Given the description of an element on the screen output the (x, y) to click on. 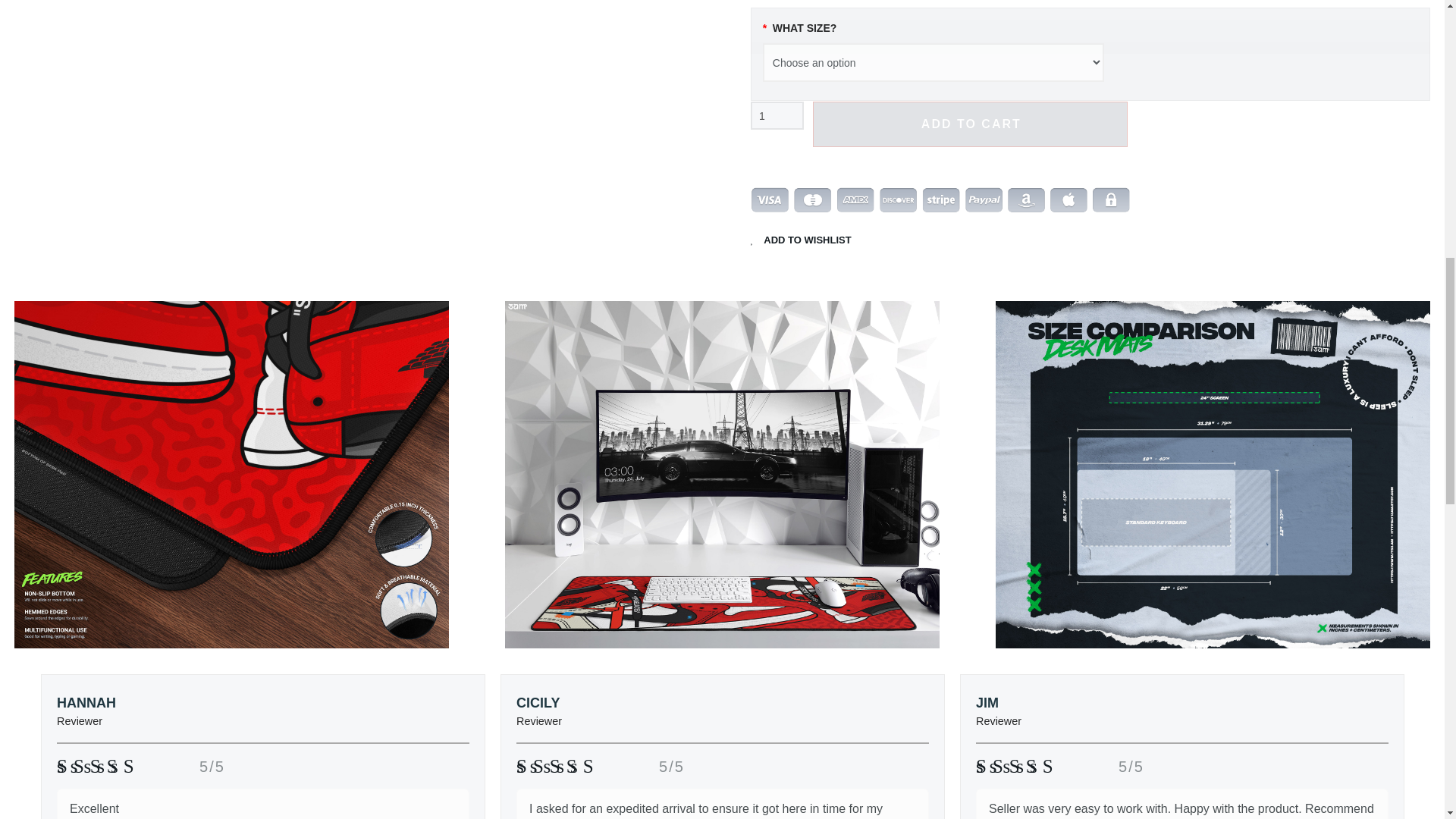
ADD TO CART (969, 124)
1 (777, 115)
ADD TO WISHLIST (801, 239)
